Given the description of an element on the screen output the (x, y) to click on. 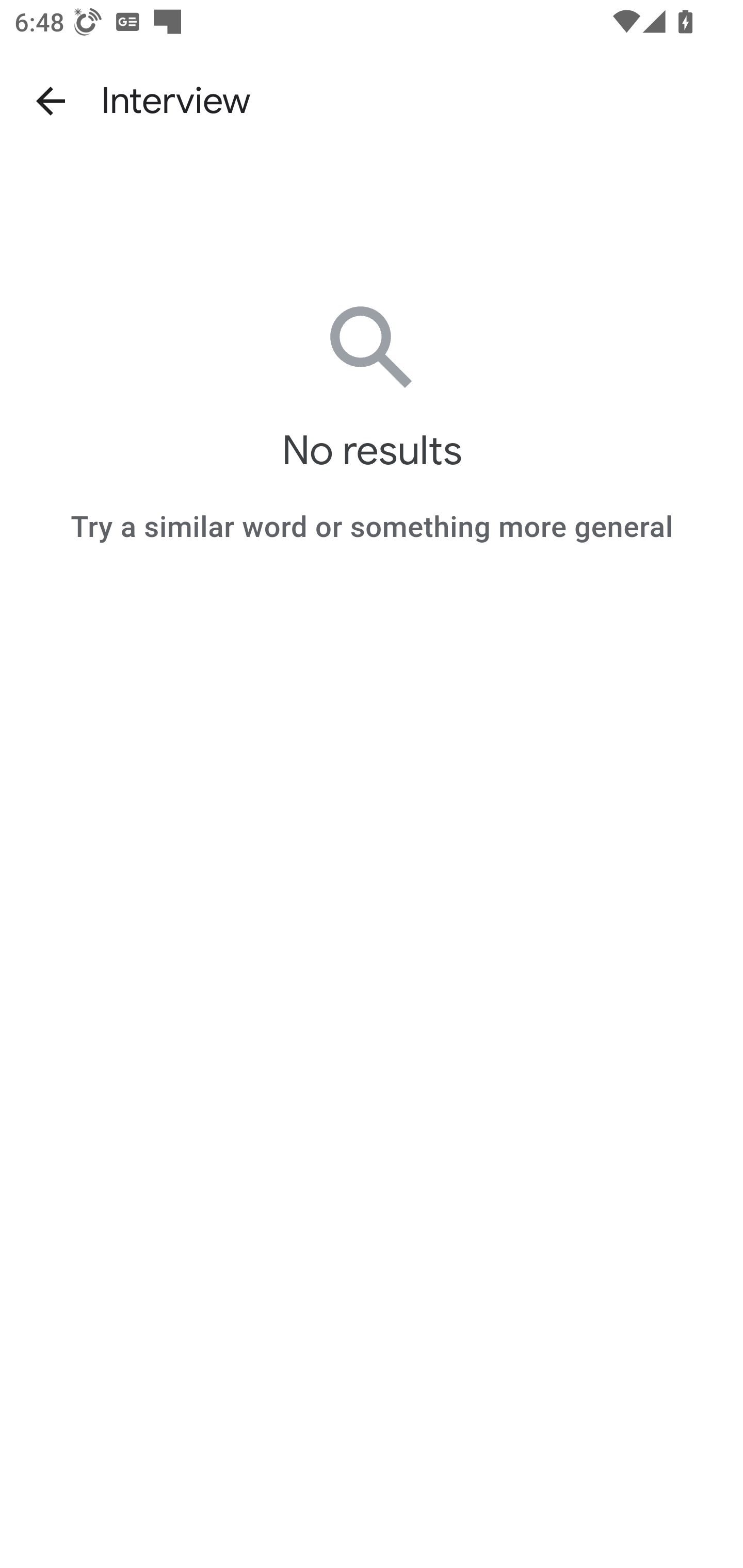
Navigate up (50, 101)
